Given the description of an element on the screen output the (x, y) to click on. 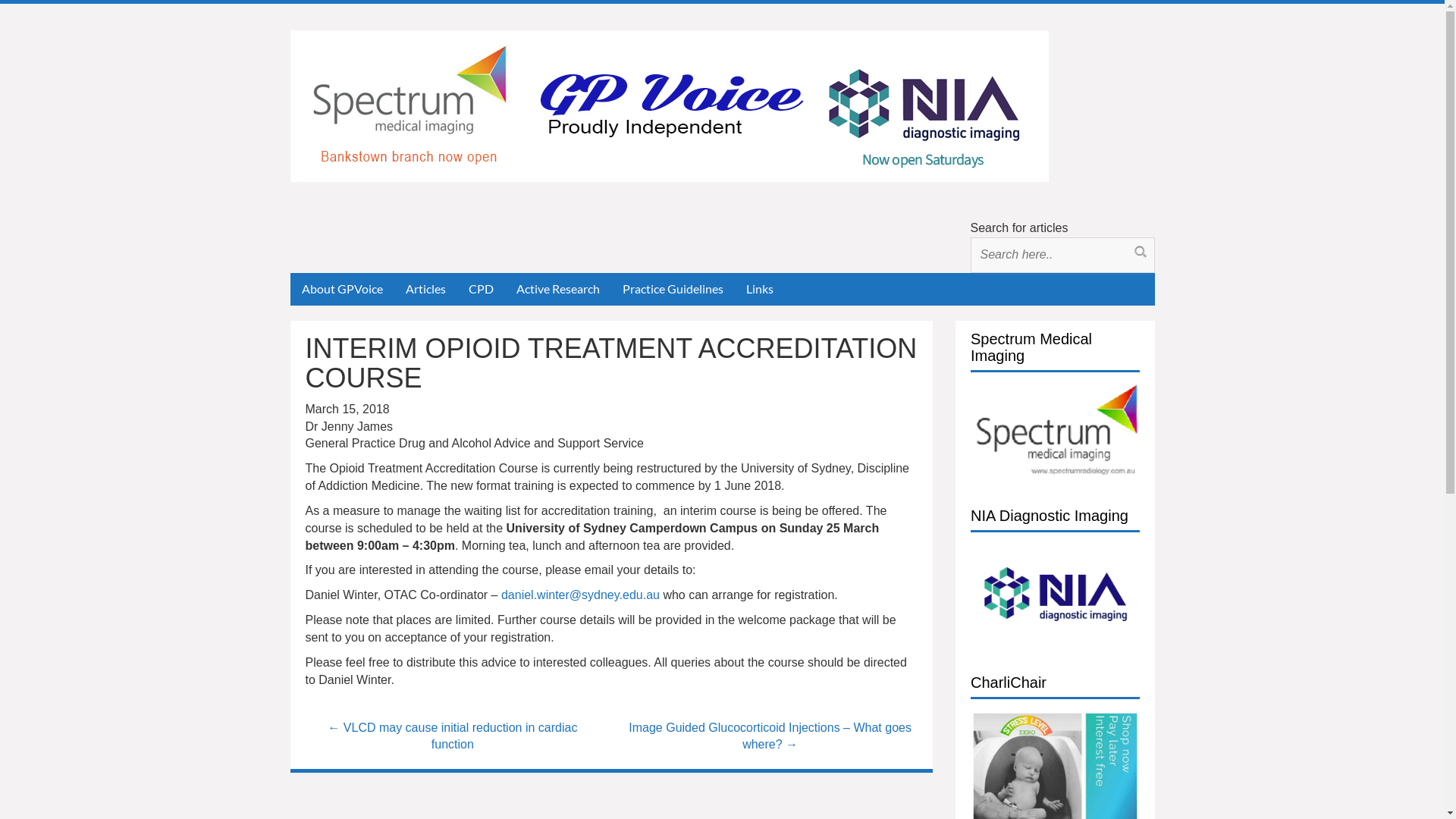
CPD Element type: text (480, 289)
About GPVoice Element type: text (341, 289)
Articles Element type: text (425, 289)
Links Element type: text (759, 289)
Active Research Element type: text (558, 289)
daniel.winter@sydney.edu.au Element type: text (580, 594)
GP Voice Element type: hover (668, 104)
Practice Guidelines Element type: text (672, 289)
